Given the description of an element on the screen output the (x, y) to click on. 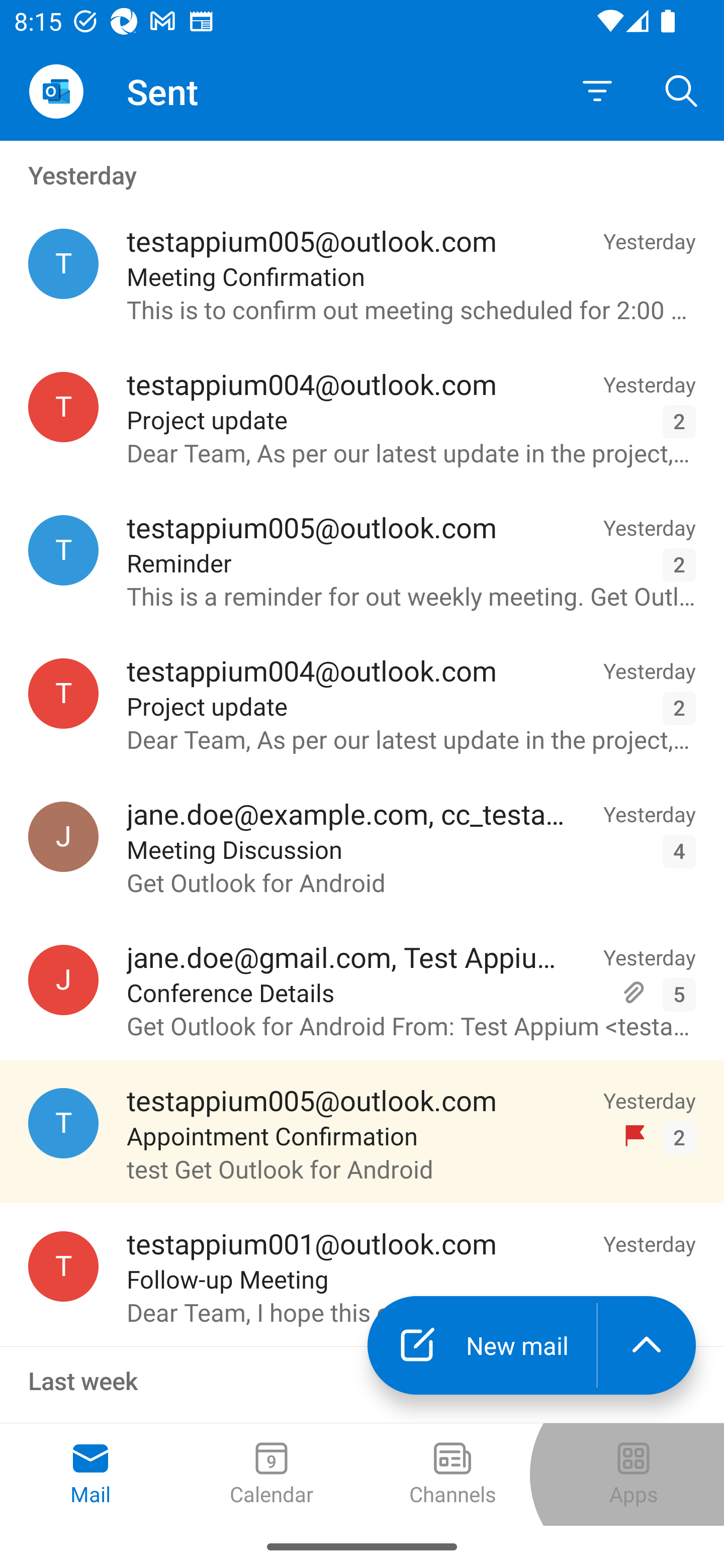
Search, ,  (681, 90)
Open Navigation Drawer (55, 91)
Filter (597, 91)
jane.doe@example.com, jane.doe@example.com (63, 836)
jane.doe@gmail.com, jane.doe@gmail.com (63, 979)
New mail (481, 1344)
launch the extended action menu (646, 1344)
Calendar (271, 1474)
Channels (452, 1474)
Apps (633, 1474)
